Given the description of an element on the screen output the (x, y) to click on. 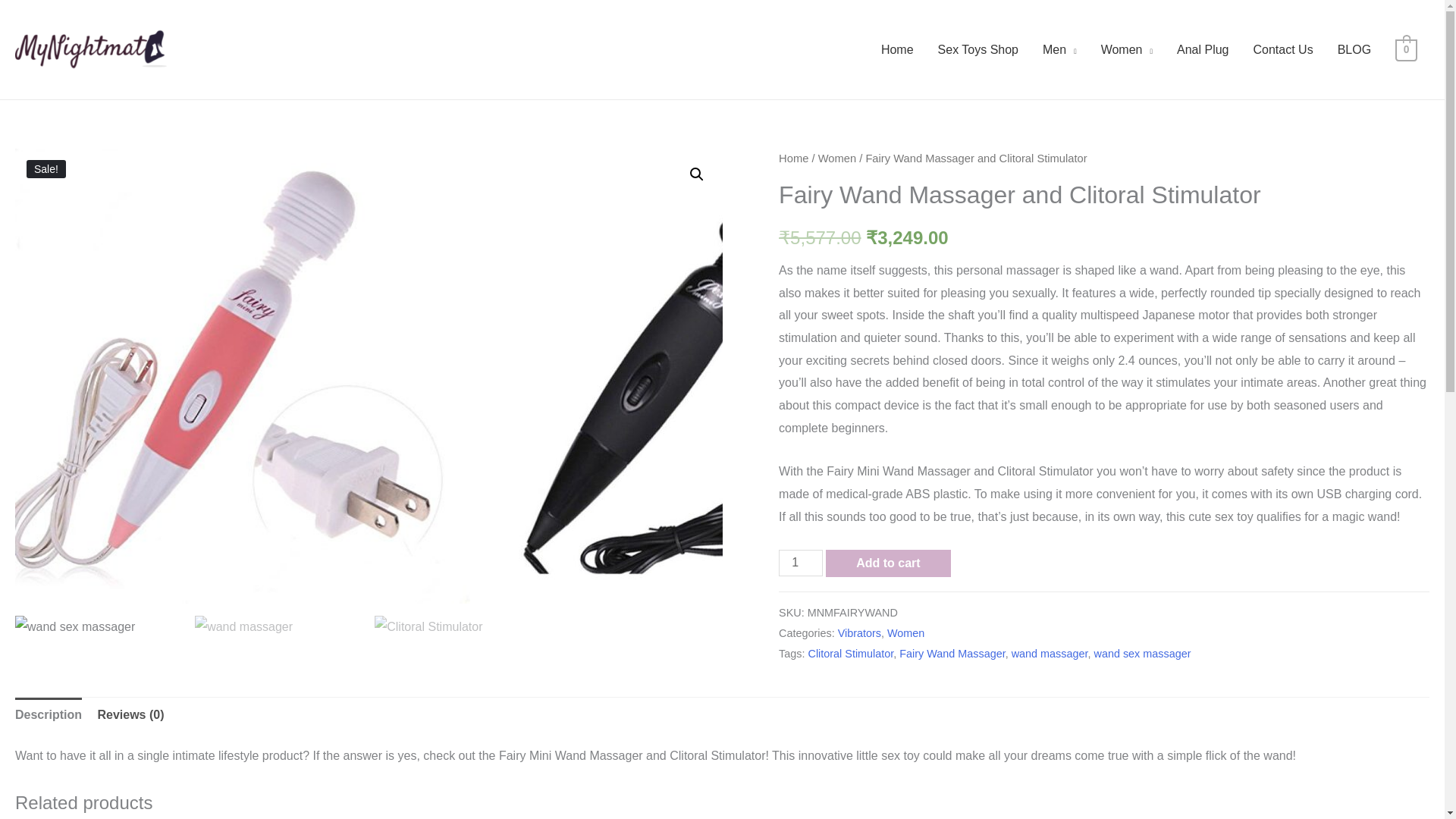
Add to cart (887, 563)
Women (905, 633)
wand massager (1049, 653)
View your shopping cart (1405, 48)
Home (897, 49)
Qty (800, 562)
Women (837, 158)
Vibrators (859, 633)
Men (1059, 49)
